Given the description of an element on the screen output the (x, y) to click on. 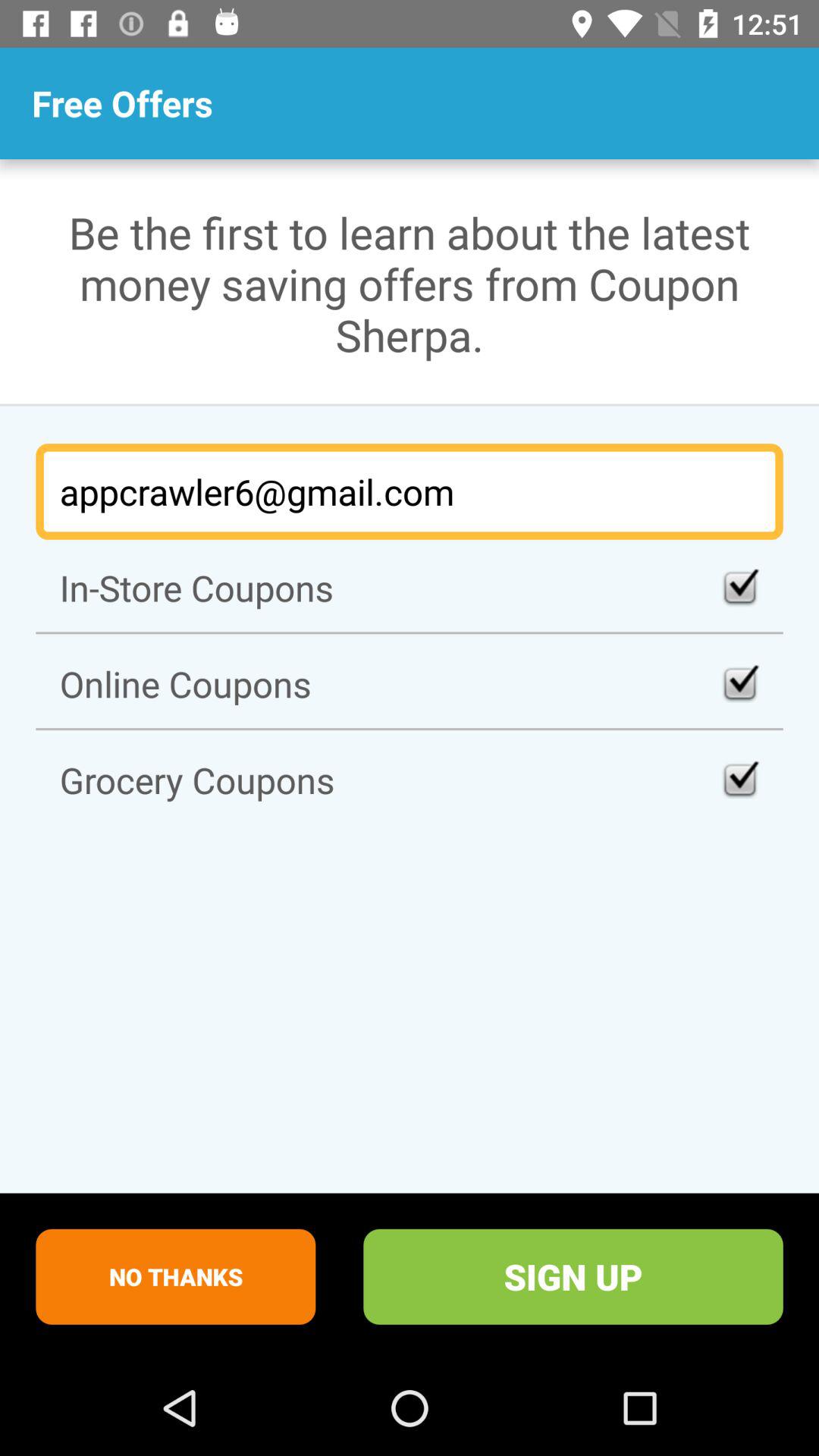
jump to the grocery coupons item (409, 779)
